Given the description of an element on the screen output the (x, y) to click on. 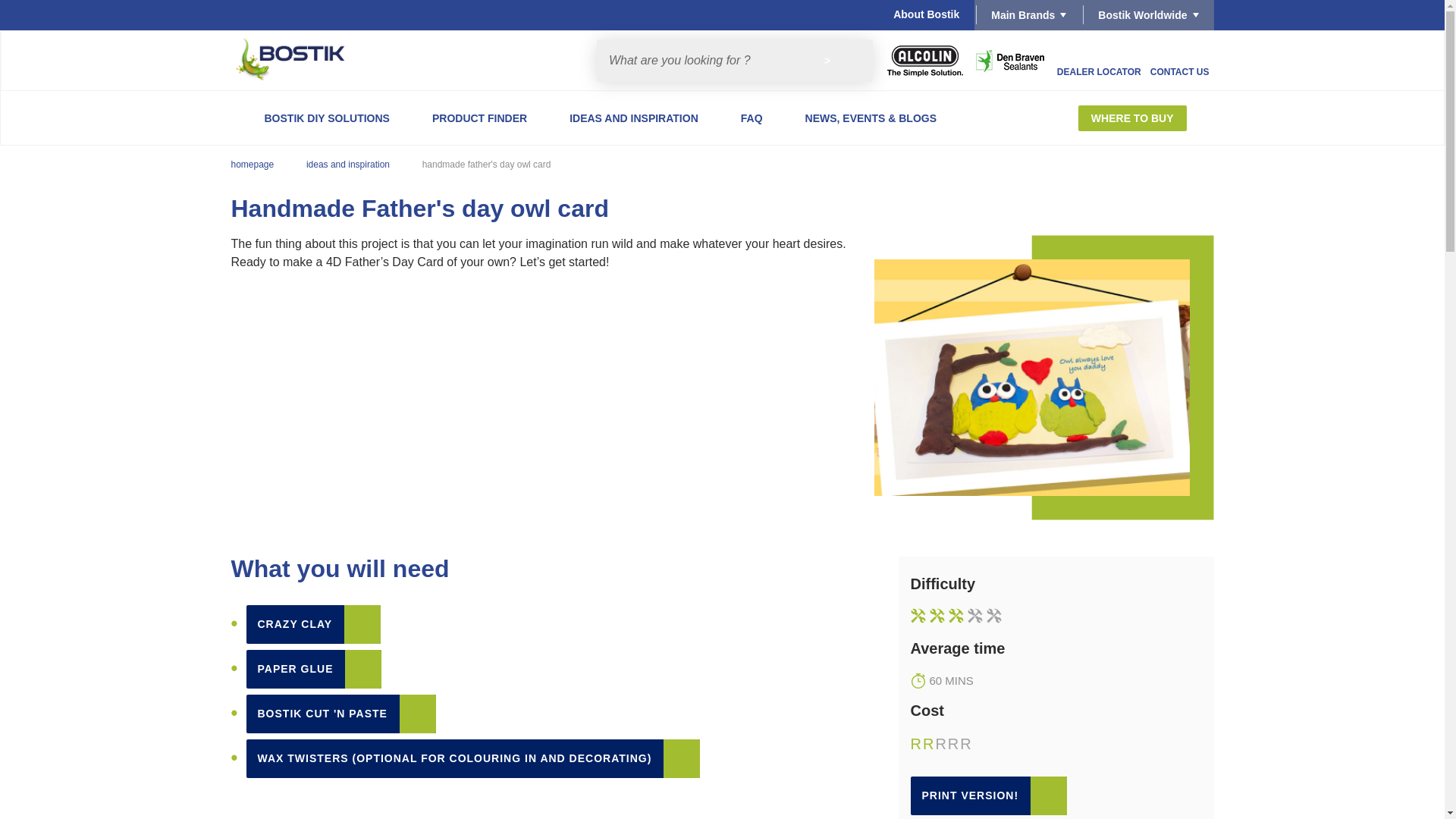
PRODUCT FINDER (479, 118)
About Bostik (926, 15)
Bostik Worldwide (1146, 15)
BOSTIK DIY SOLUTIONS (325, 118)
Home (301, 60)
CONTACT US (1179, 60)
DEALER LOCATOR (1098, 60)
